Given the description of an element on the screen output the (x, y) to click on. 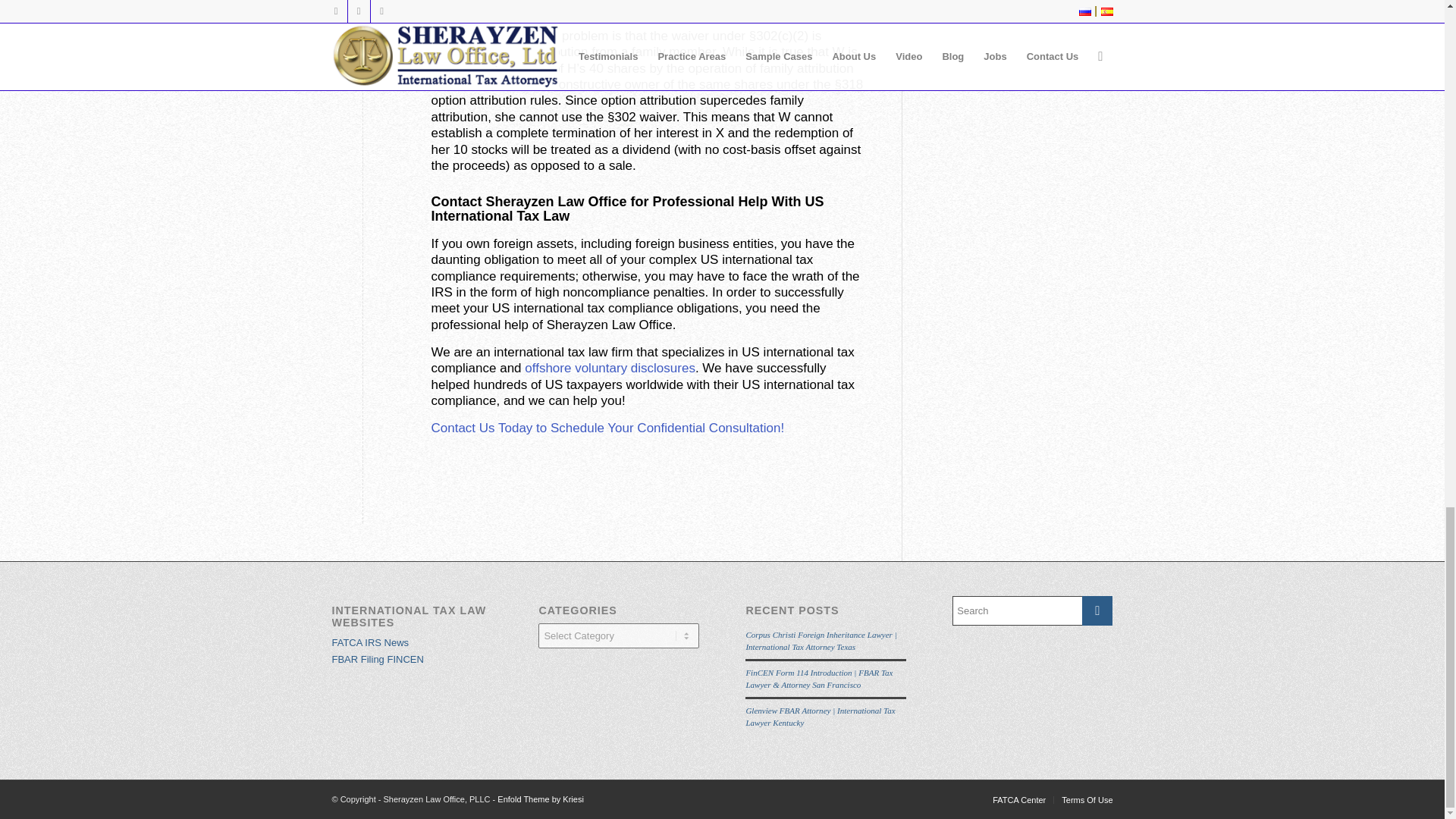
IRS official FATCA news website (370, 642)
Contact Us Today to Schedule Your Confidential Consultation! (607, 427)
offshore voluntary disclosures (609, 368)
FBAR filing FinCEN (377, 659)
